Given the description of an element on the screen output the (x, y) to click on. 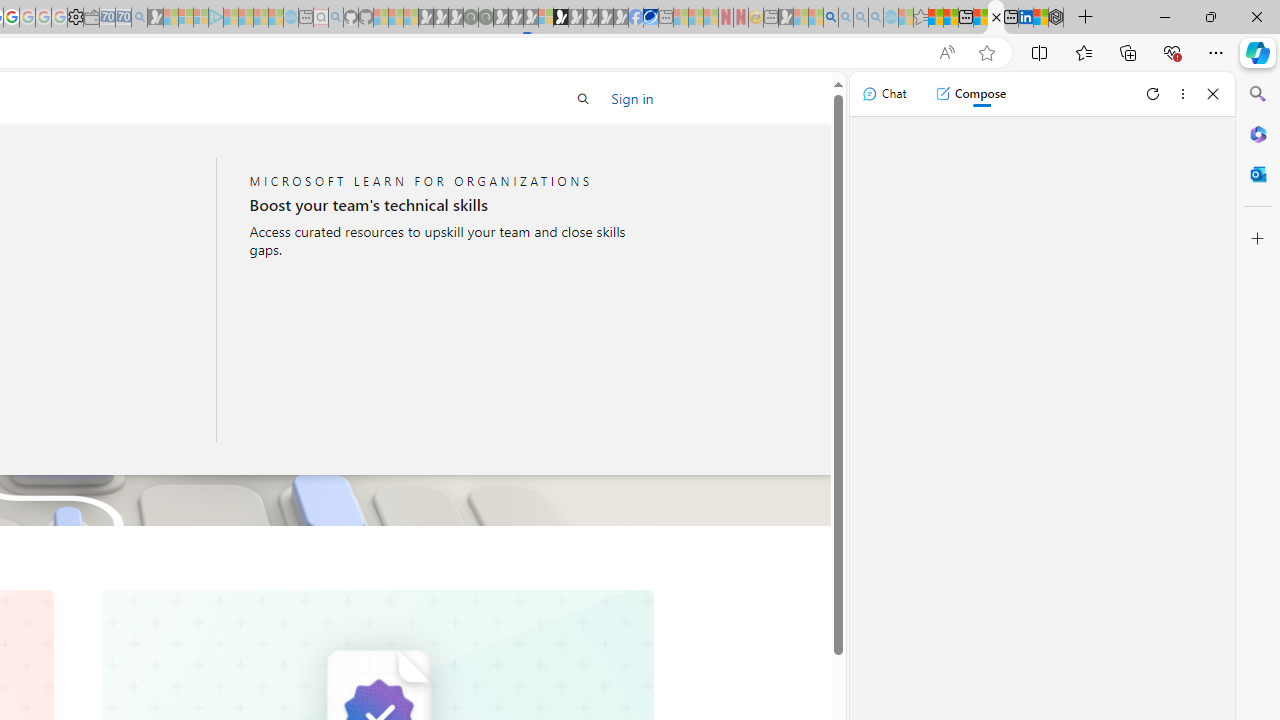
MSN - Sleeping (786, 17)
